Given the description of an element on the screen output the (x, y) to click on. 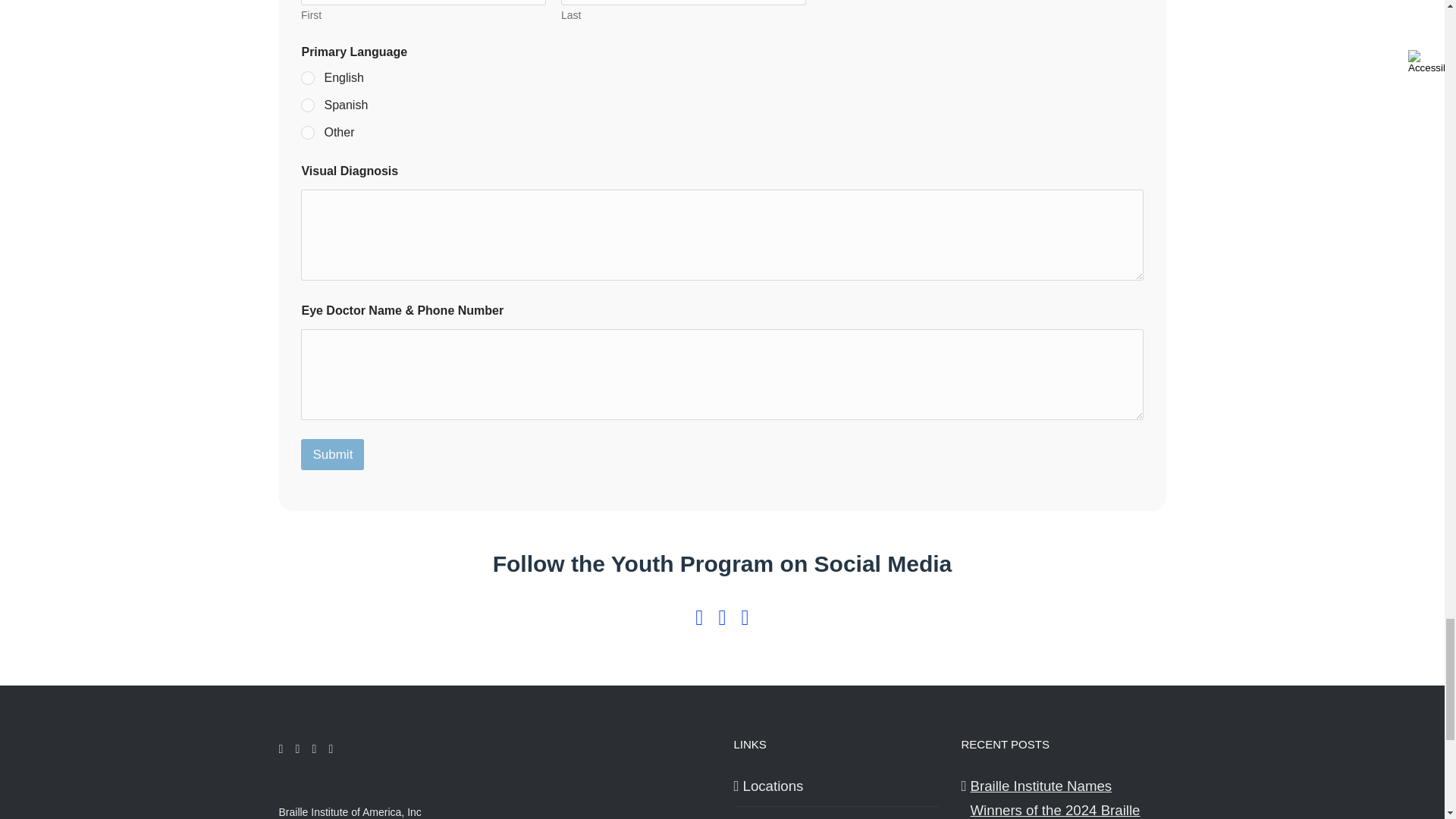
English (308, 78)
Spanish (308, 105)
Other (308, 133)
